Given the description of an element on the screen output the (x, y) to click on. 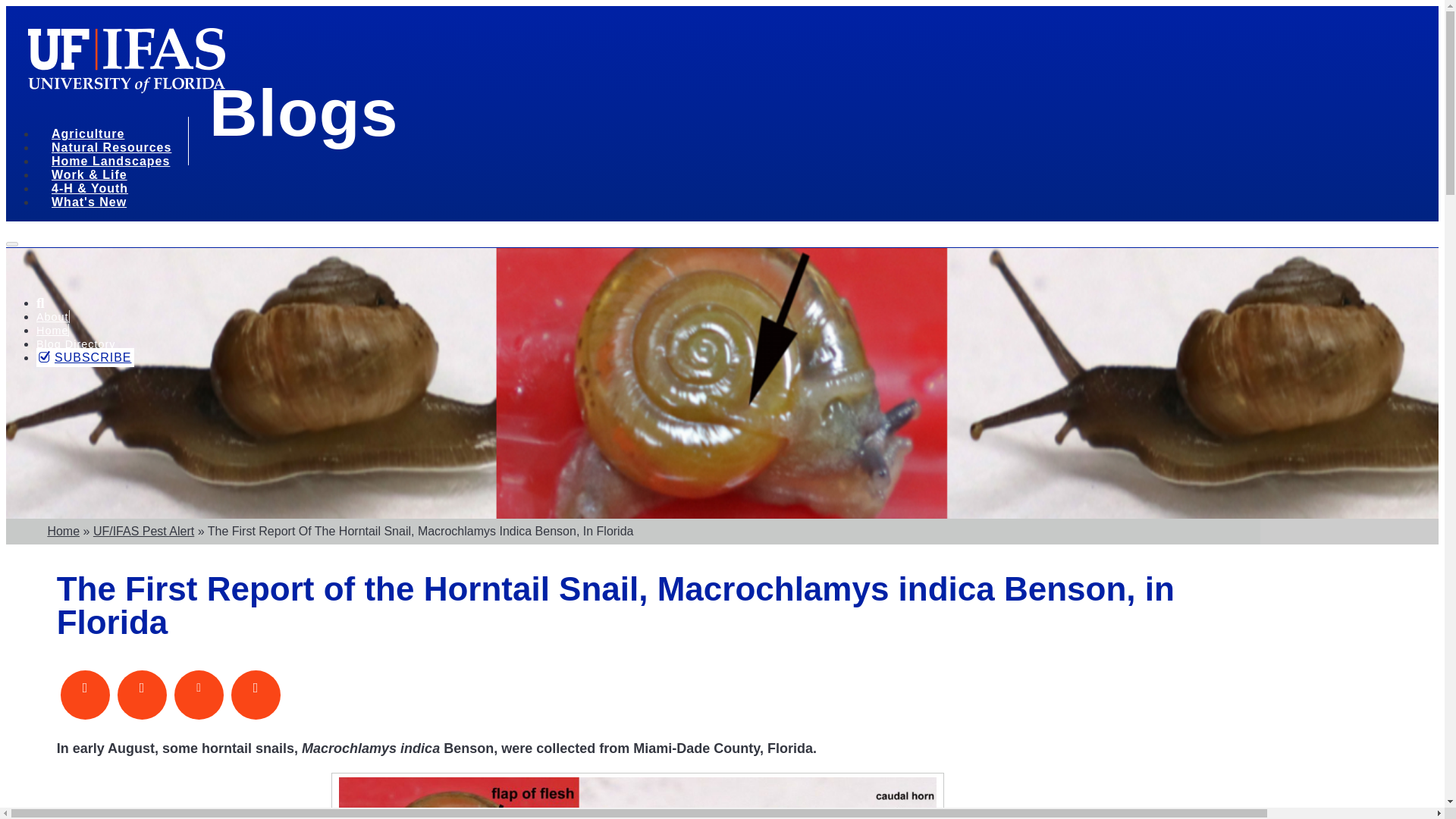
Natural Resources (116, 149)
Blogs (303, 112)
Agriculture (92, 135)
Home (52, 330)
Home Landscapes (115, 162)
SUBSCRIBE (84, 357)
Blog Directory (75, 344)
About (52, 316)
